Given the description of an element on the screen output the (x, y) to click on. 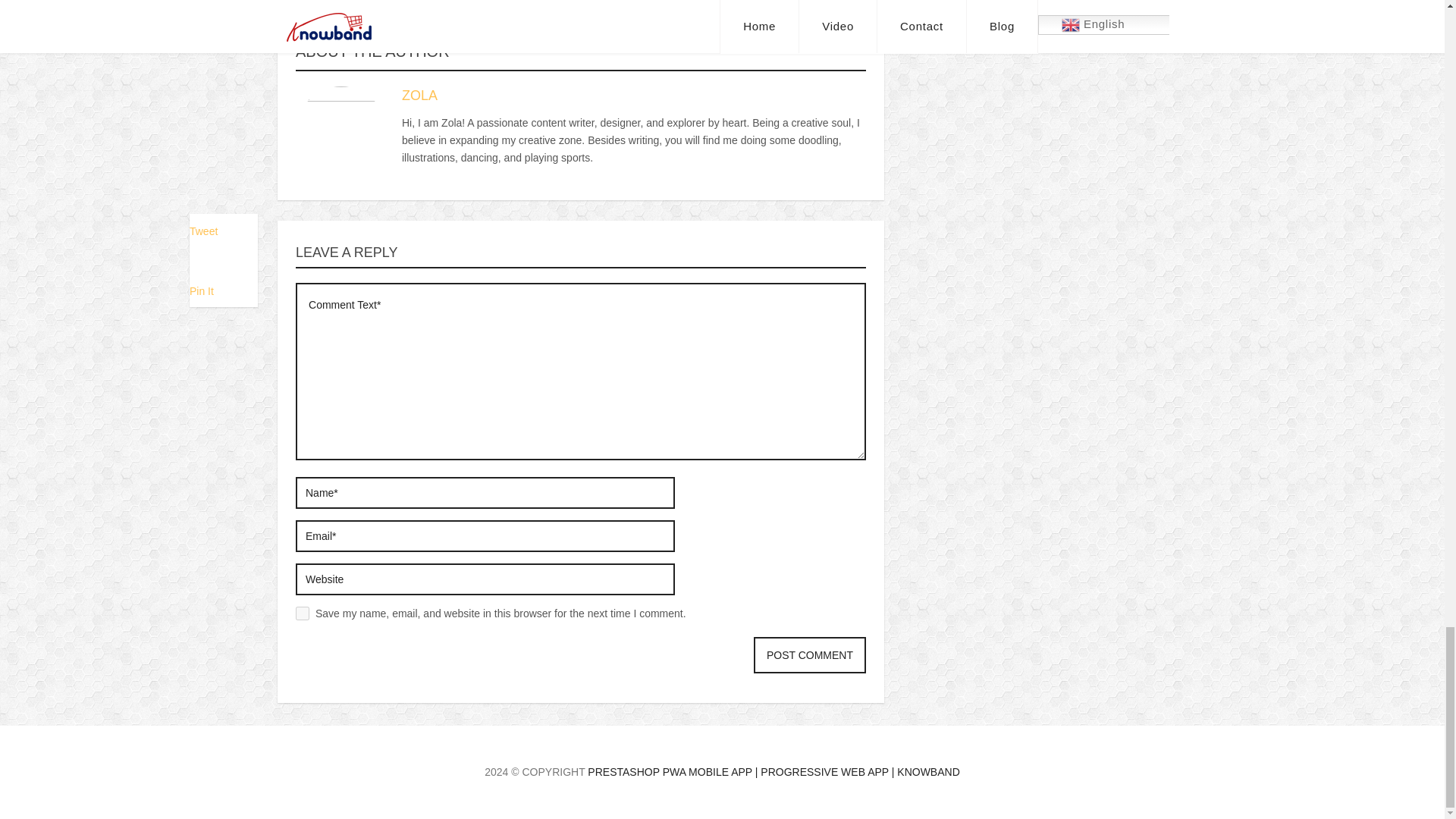
ZOLA (419, 95)
Post Comment (810, 655)
yes (301, 612)
Post Comment (810, 655)
